Given the description of an element on the screen output the (x, y) to click on. 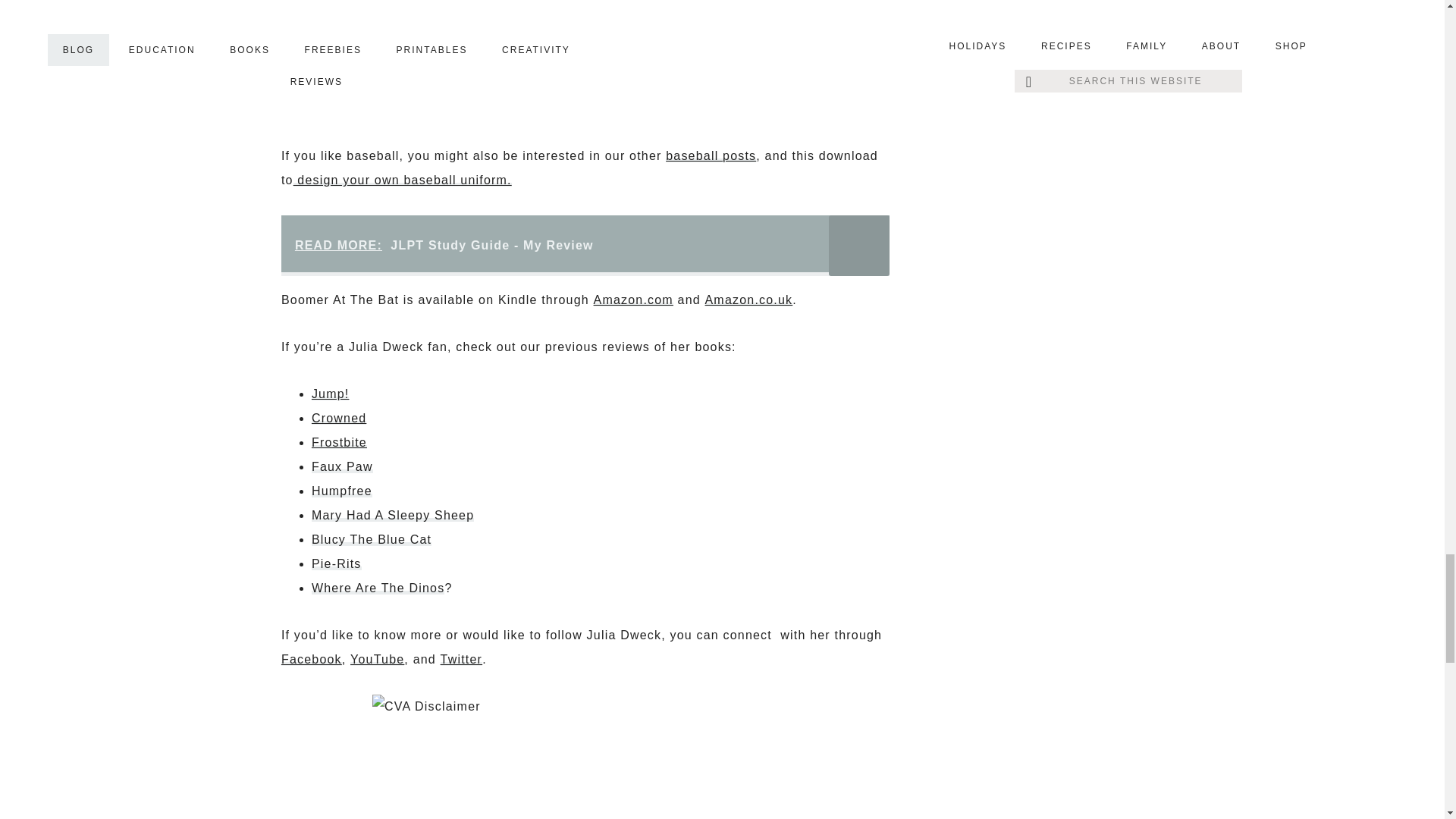
Mary Had A Sleepy Sheep Review (392, 514)
Faux Paw Review (341, 466)
Humpfree the Humpless Camel Review (341, 490)
BLUCY THE BLUE CAT REVIEW (370, 539)
